Given the description of an element on the screen output the (x, y) to click on. 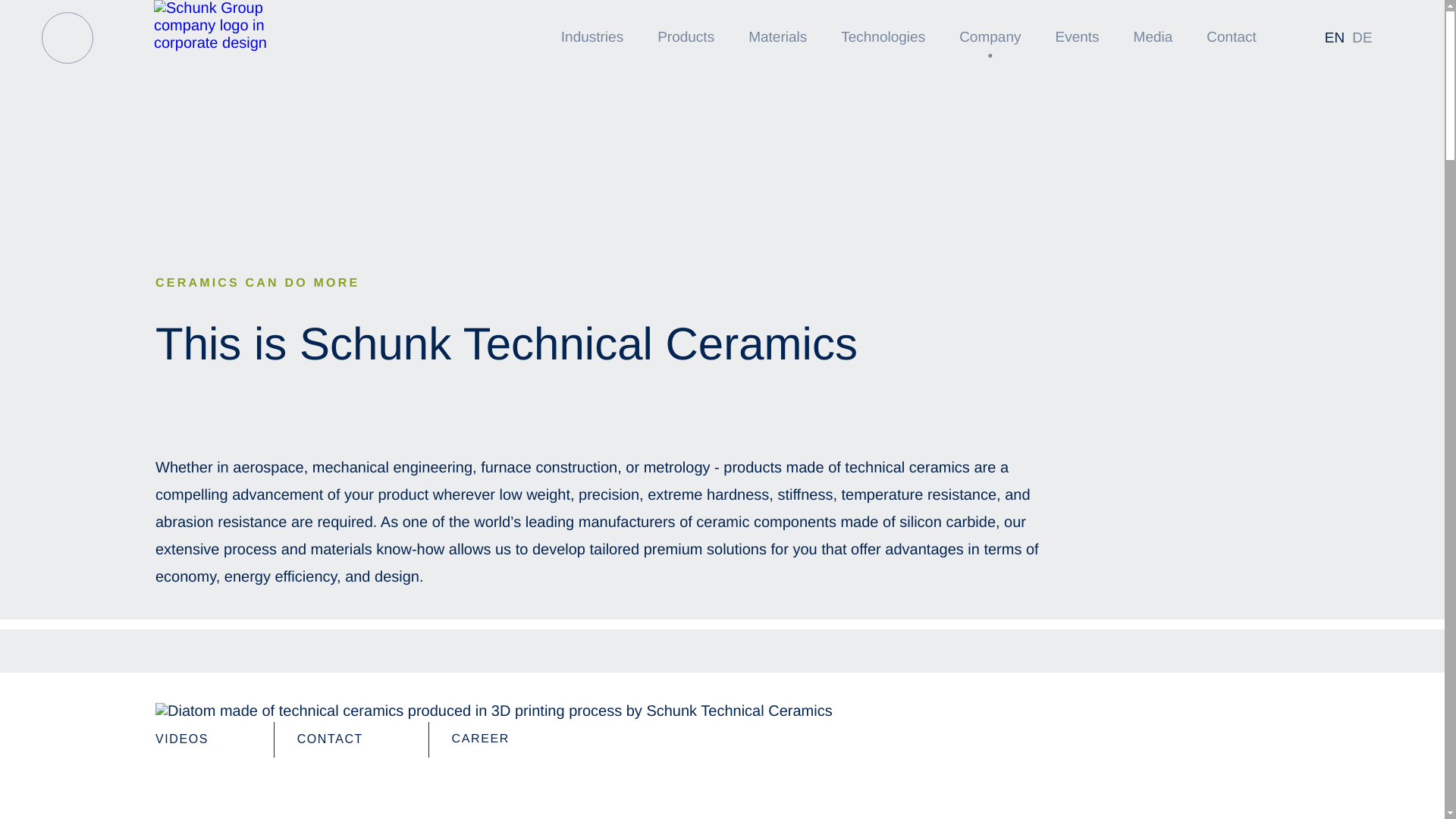
CAREER (502, 739)
Media (1152, 38)
VIDEOS (203, 739)
DE (1361, 37)
Videos (203, 739)
Company (990, 38)
de (1361, 37)
Contact (351, 739)
Logo Schunk Group (232, 26)
Contact (1230, 38)
Events (1076, 38)
CONTACT (351, 739)
